Given the description of an element on the screen output the (x, y) to click on. 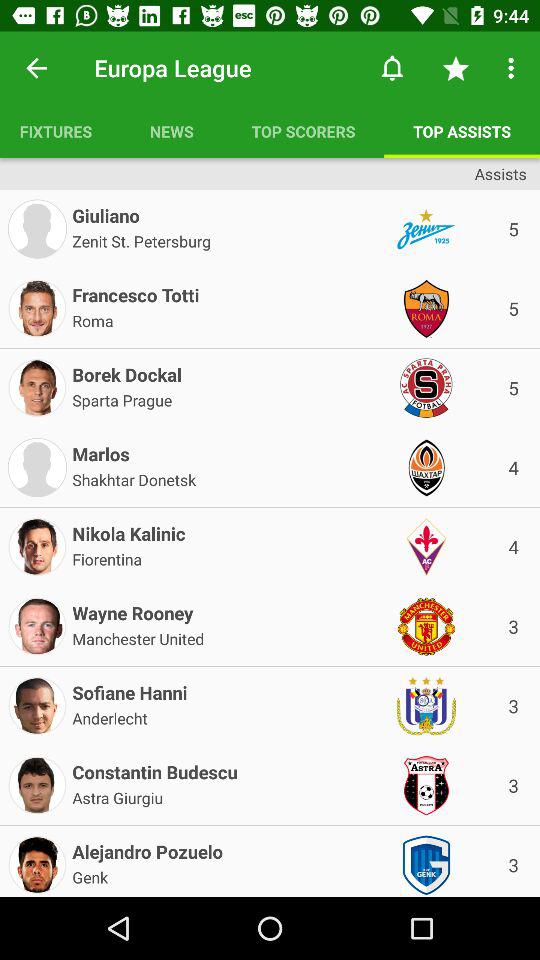
open the icon above the fixtures icon (36, 68)
